Given the description of an element on the screen output the (x, y) to click on. 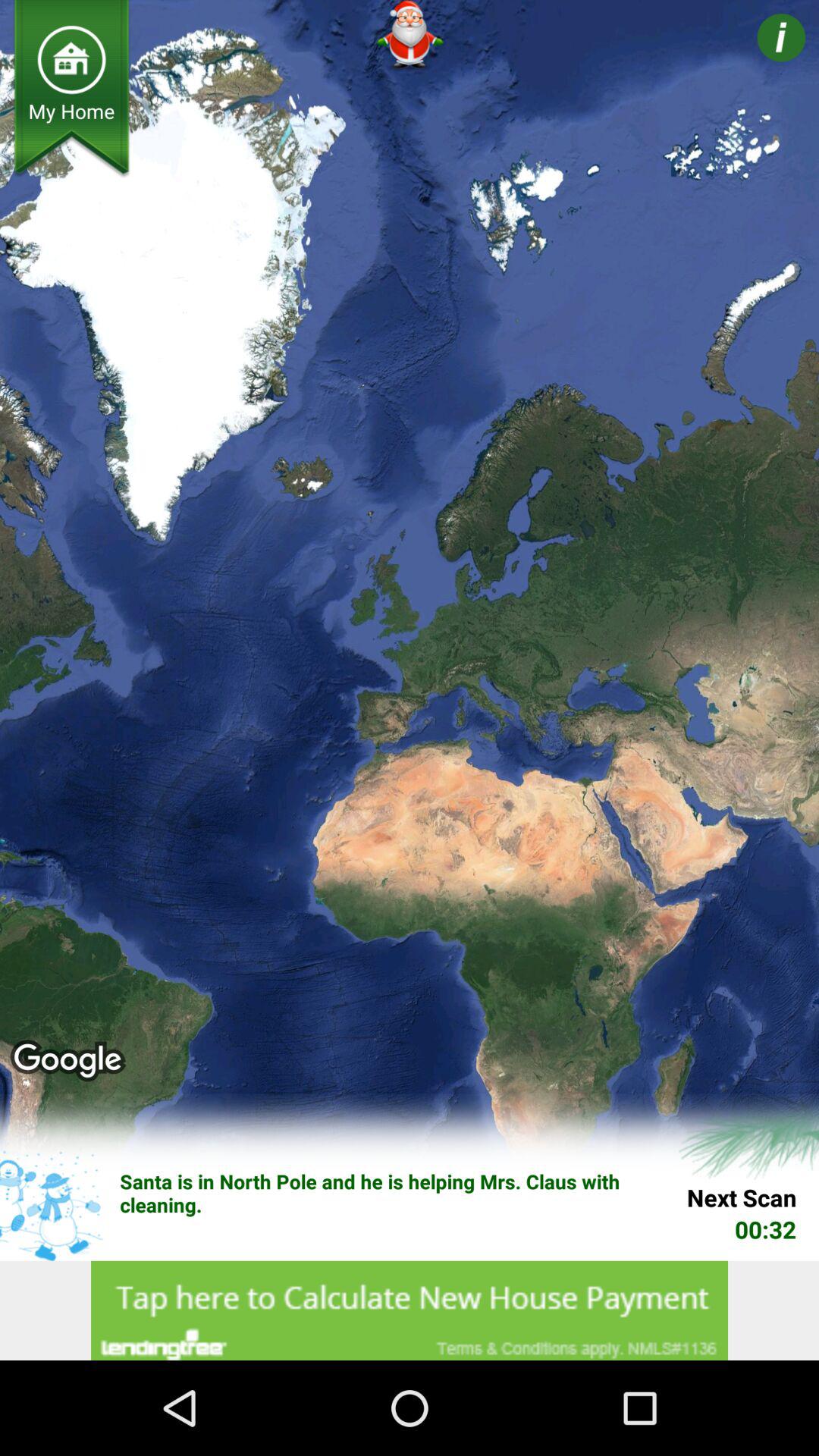
open advertisement (409, 1310)
